Given the description of an element on the screen output the (x, y) to click on. 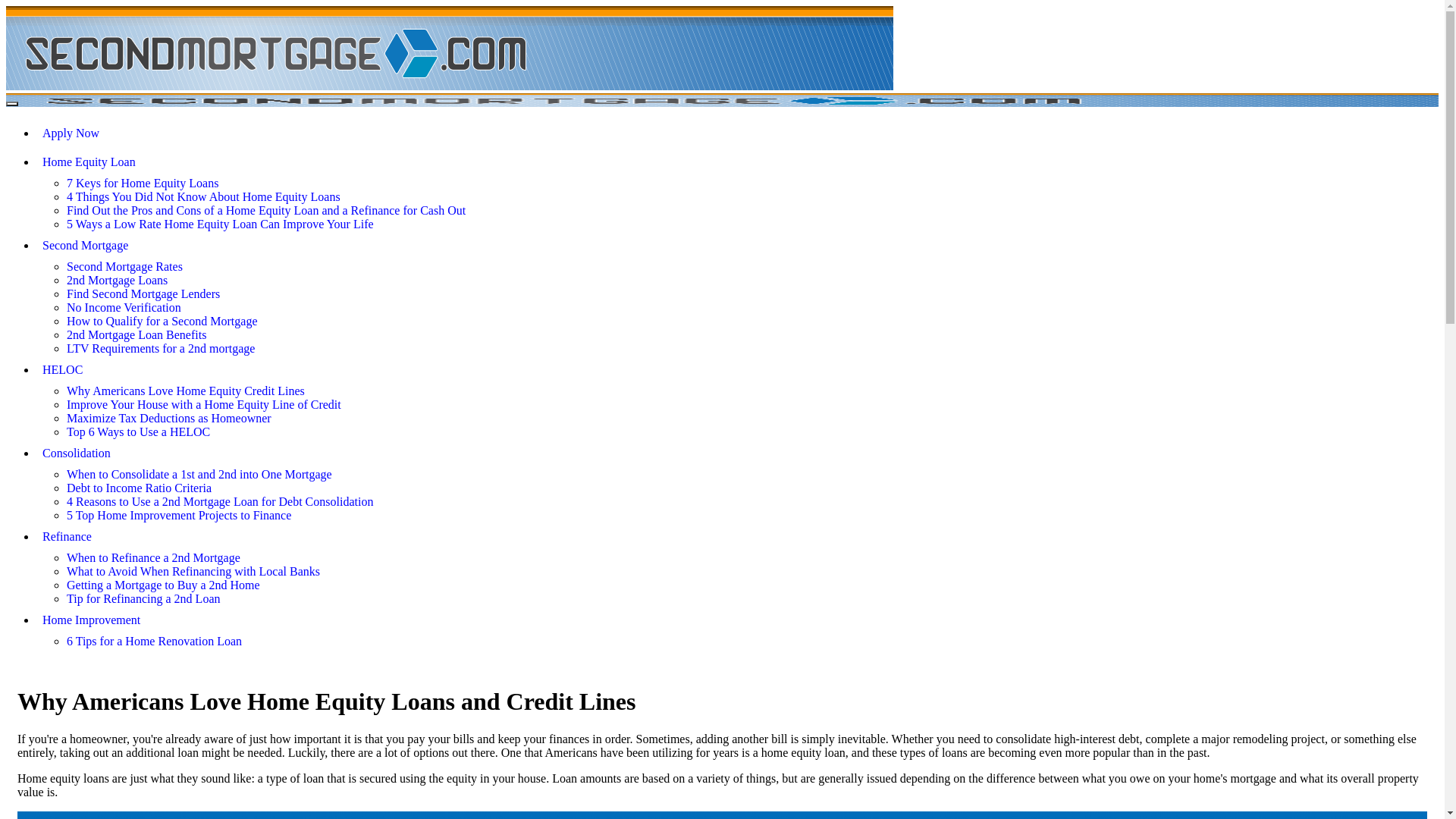
Debt to Income Ratio Criteria Element type: text (138, 487)
Home Equity Loan Element type: text (737, 161)
6 Tips for a Home Renovation Loan Element type: text (153, 640)
Second Mortgage Rates Element type: text (124, 266)
4 Reasons to Use a 2nd Mortgage Loan for Debt Consolidation Element type: text (219, 501)
HELOC Element type: text (737, 369)
Home Improvement Element type: text (737, 619)
No Income Verification Element type: text (123, 307)
Why Americans Love Home Equity Credit Lines Element type: text (185, 390)
How to Qualify for a Second Mortgage Element type: text (161, 320)
4 Things You Did Not Know About Home Equity Loans Element type: text (203, 196)
7 Keys for Home Equity Loans Element type: text (142, 182)
Top 6 Ways to Use a HELOC Element type: text (138, 431)
Refinance Element type: text (737, 536)
LTV Requirements for a 2nd mortgage Element type: text (160, 348)
What to Avoid When Refinancing with Local Banks Element type: text (193, 570)
Find Second Mortgage Lenders Element type: text (142, 293)
When to Refinance a 2nd Mortgage Element type: text (153, 557)
Improve Your House with a Home Equity Line of Credit Element type: text (203, 404)
2nd Mortgage Loans Element type: text (116, 279)
When to Consolidate a 1st and 2nd into One Mortgage Element type: text (199, 473)
5 Top Home Improvement Projects to Finance Element type: text (178, 514)
Maximize Tax Deductions as Homeowner Element type: text (168, 417)
2nd Mortgage Loan Benefits Element type: text (136, 334)
Getting a Mortgage to Buy a 2nd Home Element type: text (163, 584)
Tip for Refinancing a 2nd Loan Element type: text (142, 598)
5 Ways a Low Rate Home Equity Loan Can Improve Your Life Element type: text (219, 223)
Second Mortgage Element type: text (737, 245)
Consolidation Element type: text (737, 453)
Apply Now Element type: text (737, 133)
